Given the description of an element on the screen output the (x, y) to click on. 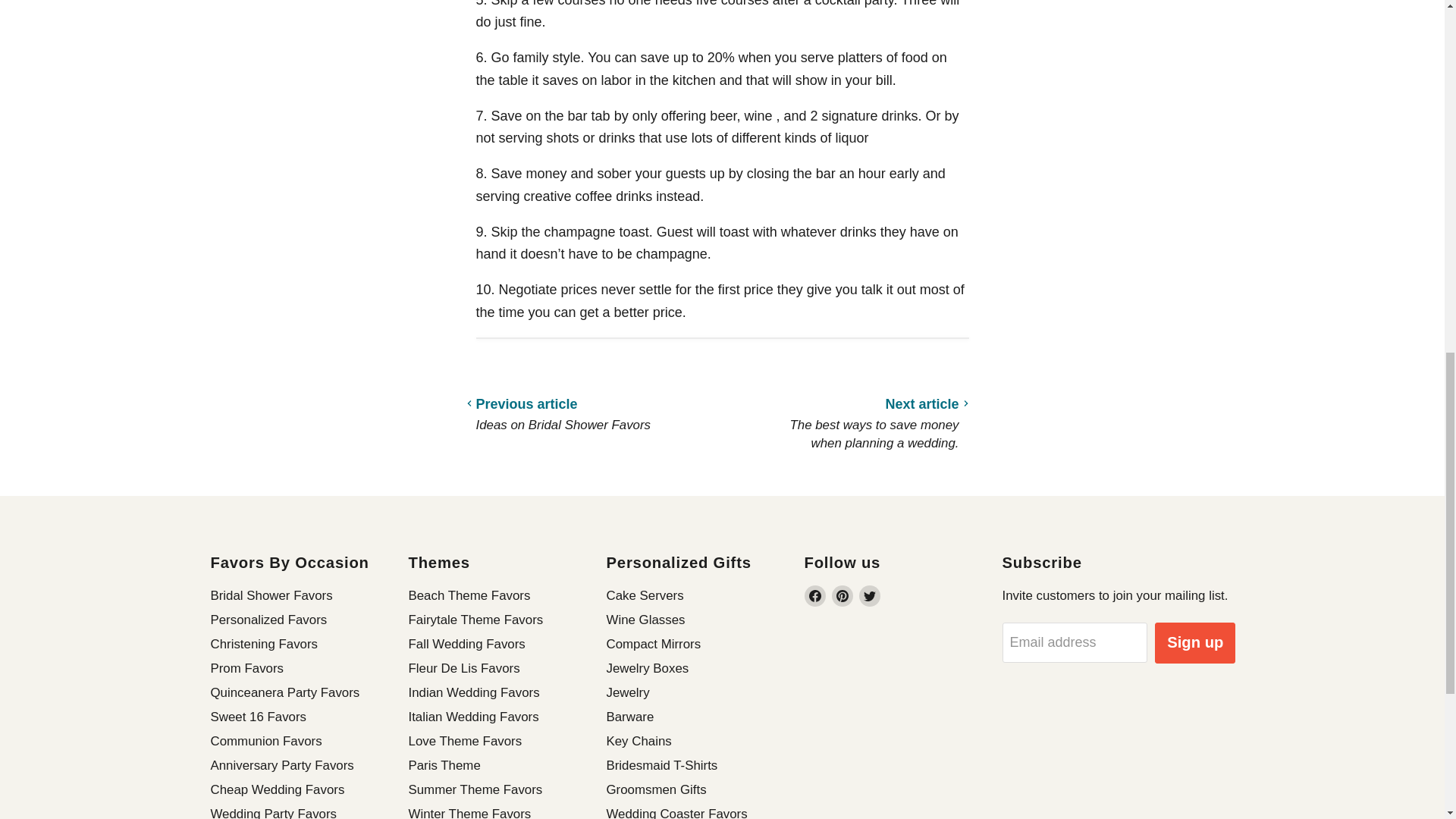
Facebook (814, 595)
Pinterest (841, 595)
Twitter (869, 595)
